Given the description of an element on the screen output the (x, y) to click on. 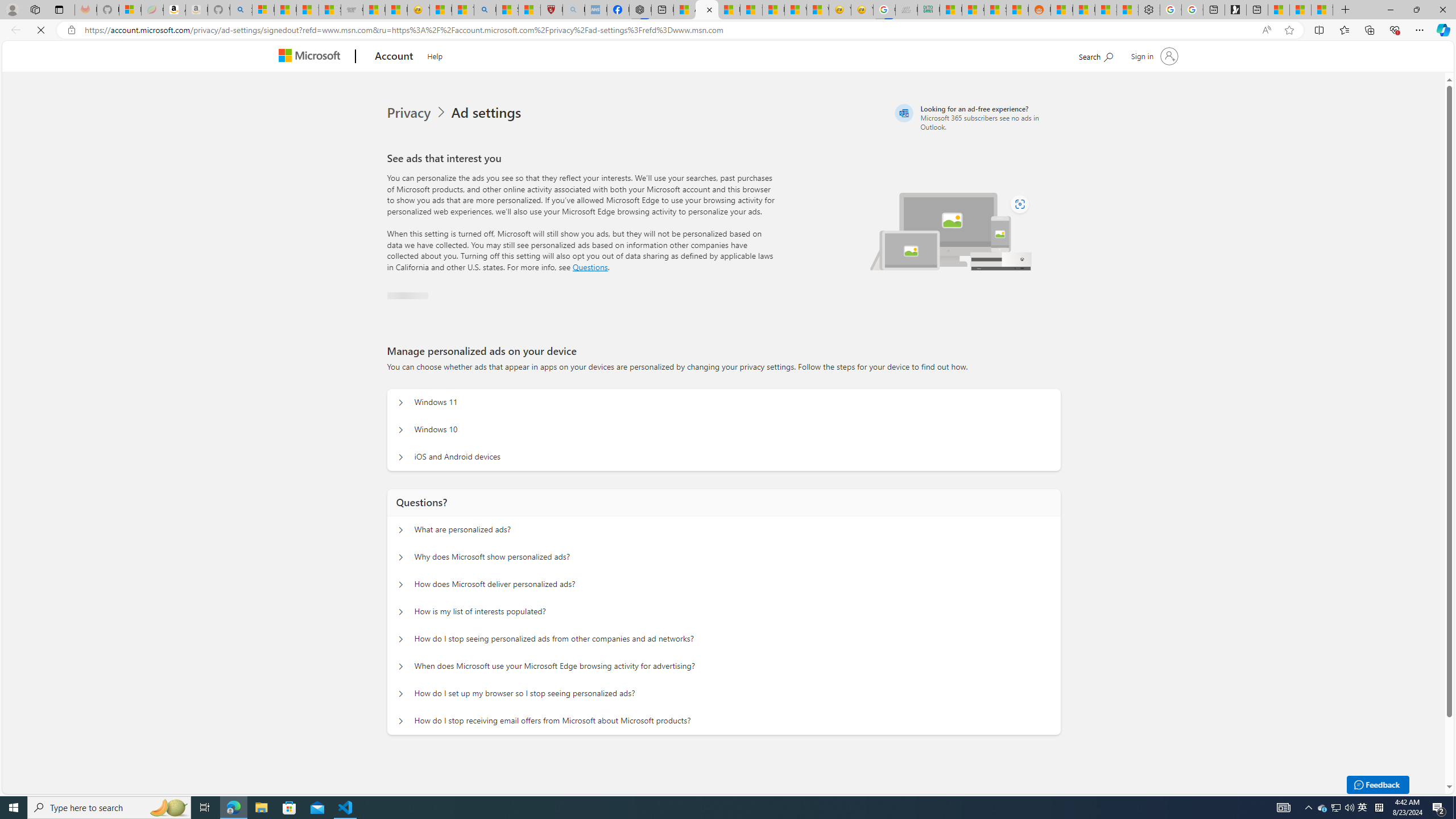
Go to Questions section (590, 266)
Sign in to your account (1153, 55)
